Given the description of an element on the screen output the (x, y) to click on. 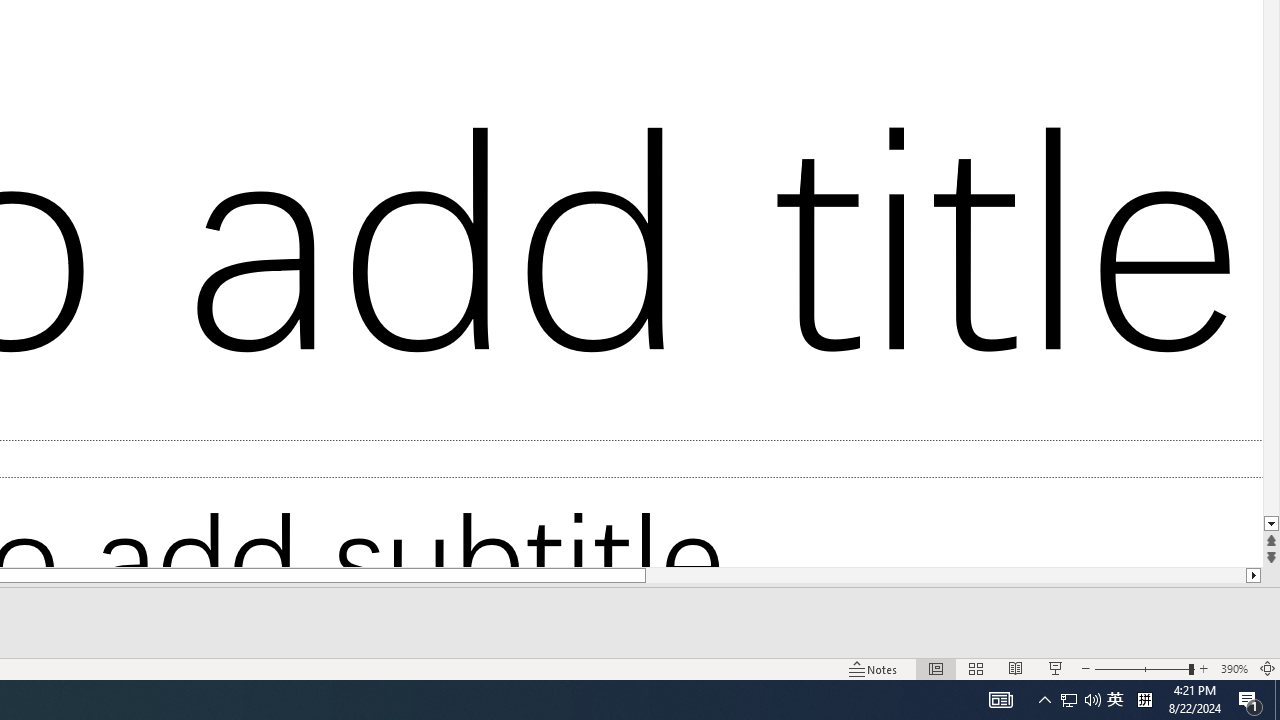
Action Center, 1 new notification (1250, 699)
Zoom 390% (1234, 668)
